Given the description of an element on the screen output the (x, y) to click on. 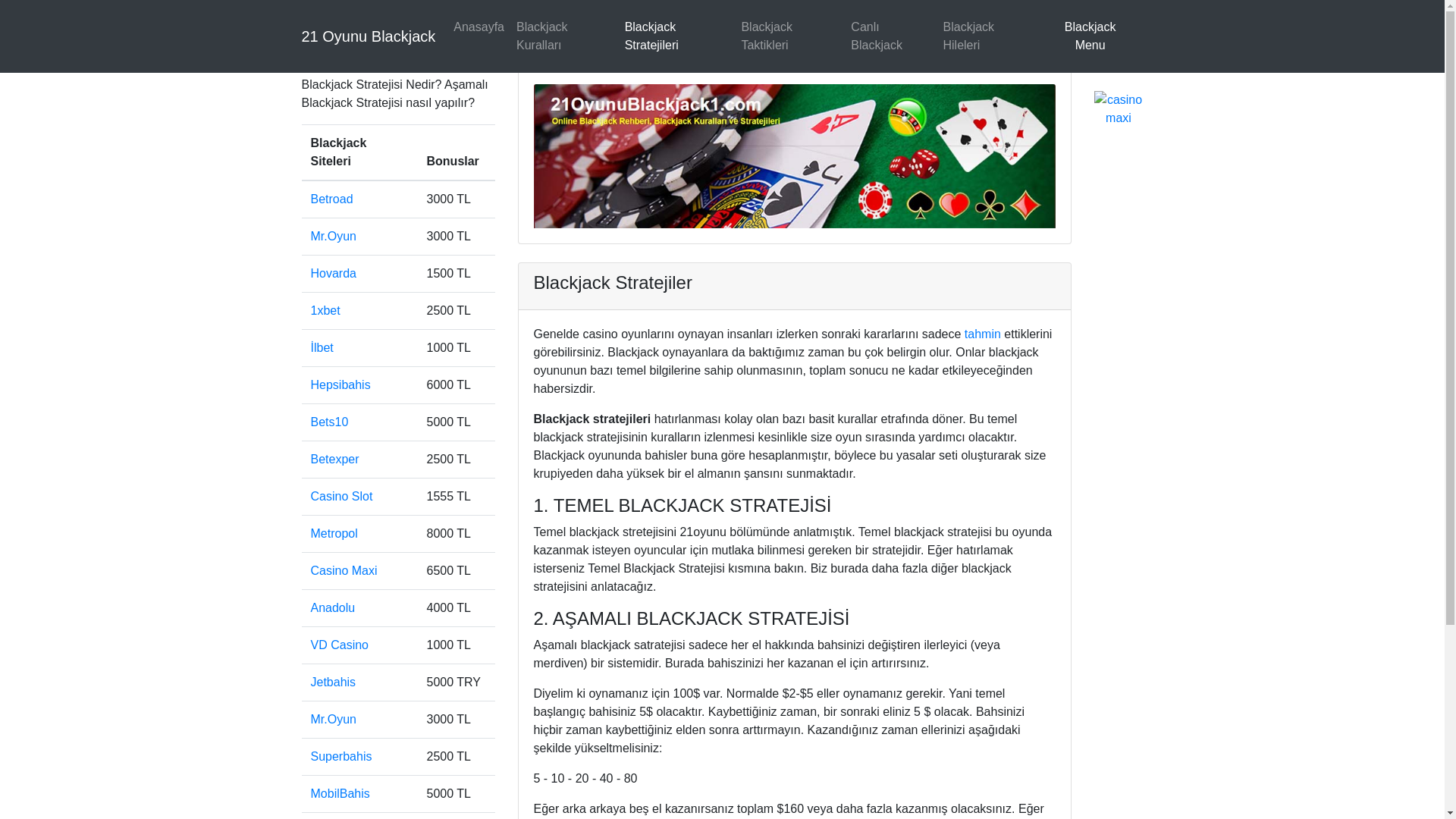
MobilBahis Element type: text (340, 793)
Hovarda Element type: text (333, 272)
Blackjack Stratejileri Element type: text (676, 36)
Anadolu Element type: text (332, 607)
Blackjack Taktikleri Element type: text (789, 36)
21 Oyunu Blackjack Element type: text (368, 36)
Mr.Oyun Element type: text (333, 718)
tahmin Element type: text (982, 333)
Betexper Element type: text (334, 458)
Bets10 Element type: text (329, 421)
VD Casino Element type: text (339, 644)
Superbahis Element type: text (341, 755)
Hepsibahis Element type: text (340, 384)
superbahis Element type: hover (1122, 56)
1xbet Element type: text (325, 310)
Mr.Oyun Element type: text (333, 235)
Jetbahis Element type: text (333, 681)
Metropol Element type: text (333, 533)
Blackjack Menu Element type: text (1090, 36)
Casino Slot Element type: text (341, 495)
casinomaxi Element type: hover (1117, 107)
Betroad Element type: text (331, 198)
Blackjack Hileleri Element type: text (987, 36)
Casino Maxi Element type: text (343, 570)
Anasayfa Element type: text (478, 27)
